Given the description of an element on the screen output the (x, y) to click on. 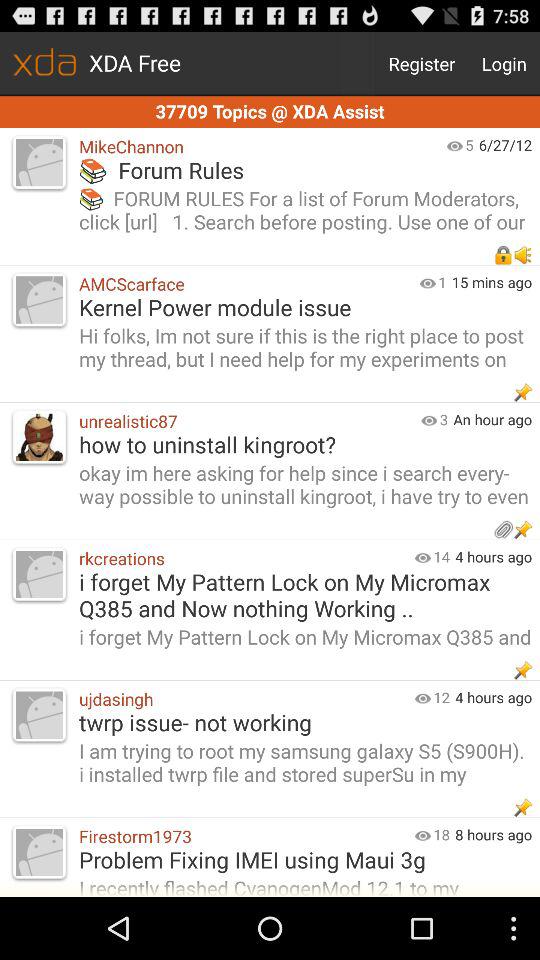
turn on app above the i forget my icon (441, 556)
